Given the description of an element on the screen output the (x, y) to click on. 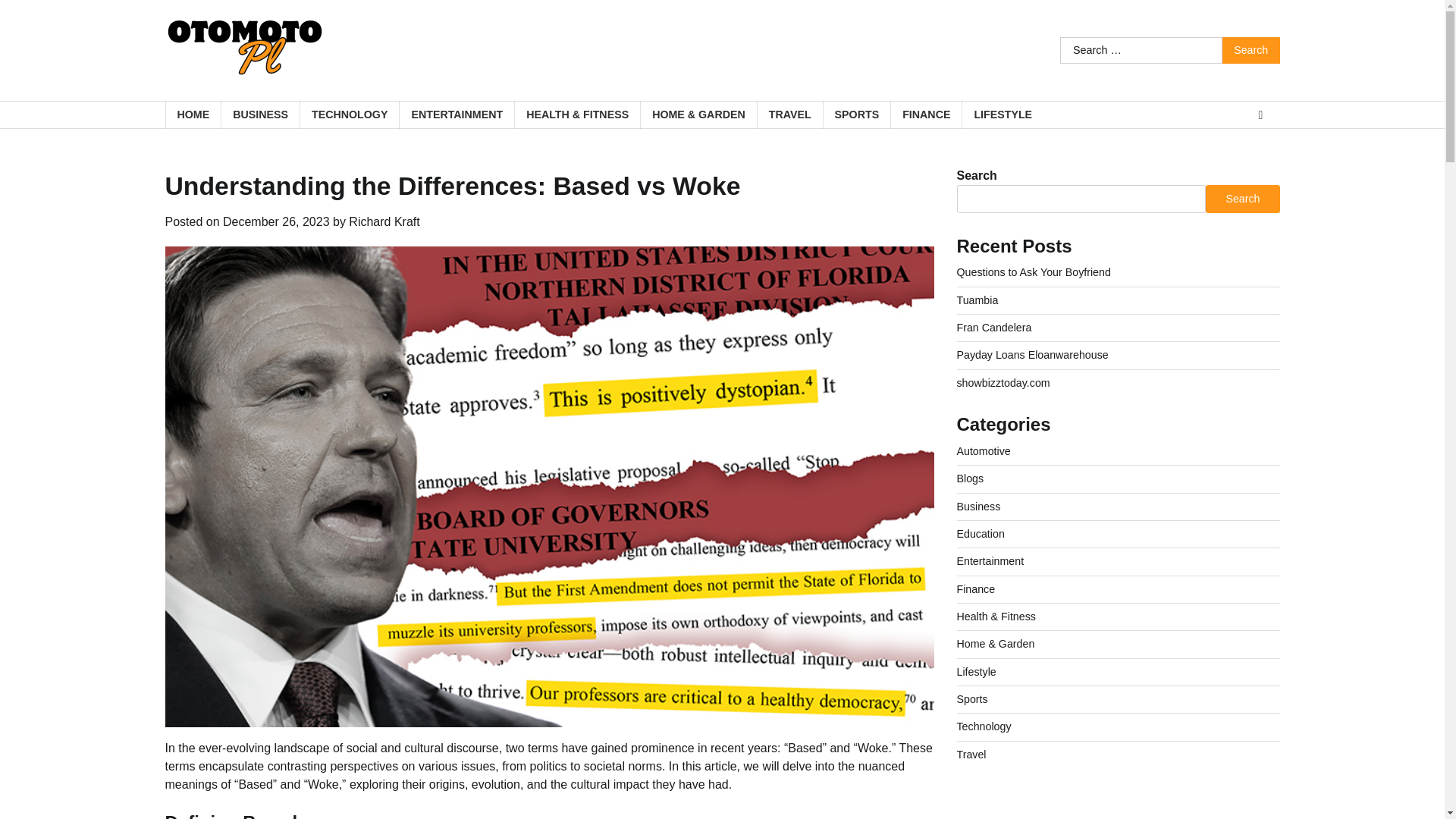
HOME (193, 114)
TECHNOLOGY (348, 114)
Search (1251, 50)
FINANCE (924, 114)
Search (1242, 198)
SPORTS (856, 114)
Search (1251, 50)
Questions to Ask Your Boyfriend (1033, 272)
ENTERTAINMENT (455, 114)
LIFESTYLE (1001, 114)
TRAVEL (789, 114)
BUSINESS (260, 114)
Search (1251, 50)
December 26, 2023 (276, 221)
Richard Kraft (384, 221)
